Given the description of an element on the screen output the (x, y) to click on. 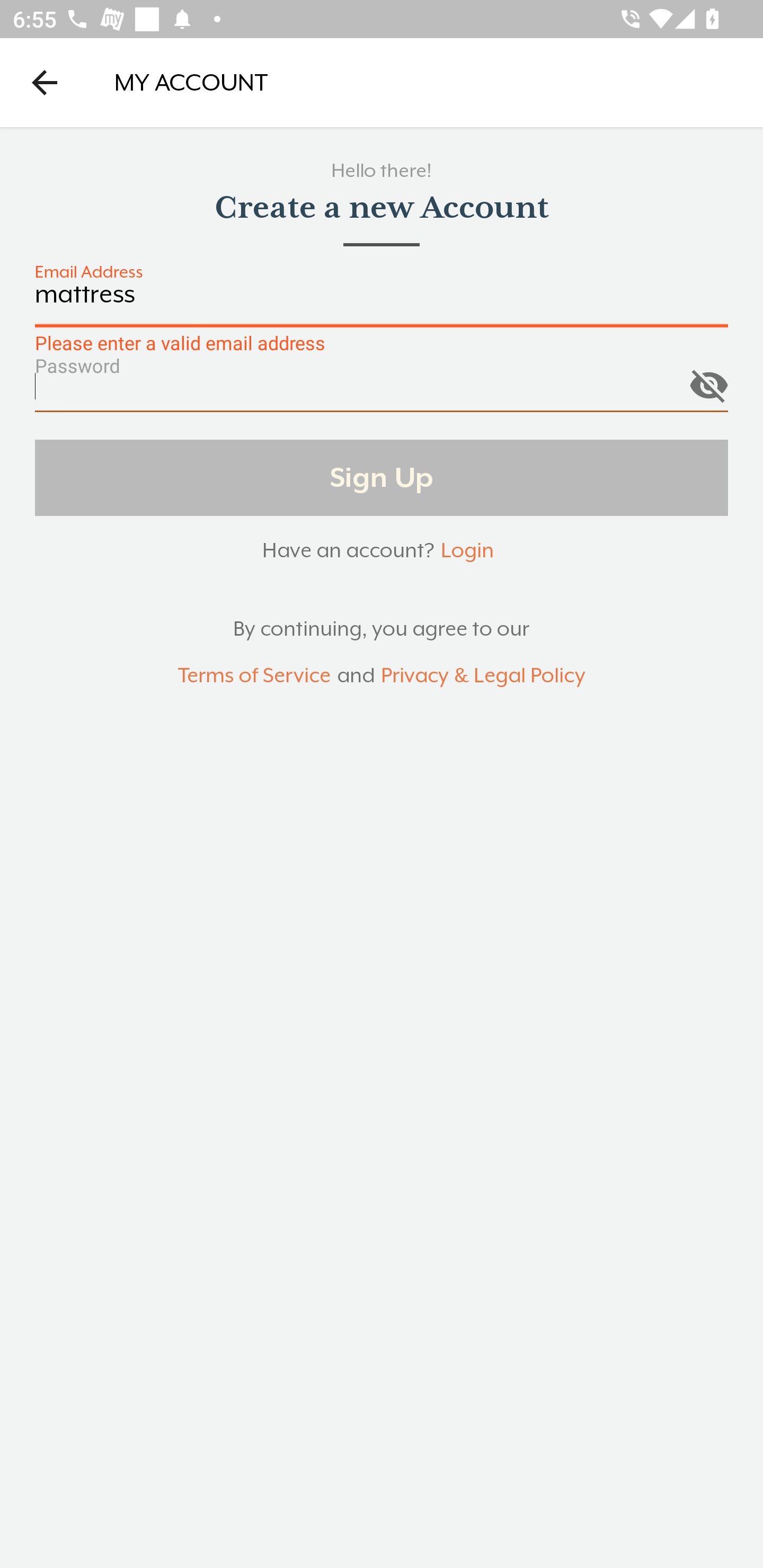
Navigate up (44, 82)
mattress (381, 304)
 (708, 381)
Password (381, 393)
Sign Up (381, 477)
Login (467, 550)
Terms of Service (253, 675)
Privacy & Legal Policy (483, 675)
